Given the description of an element on the screen output the (x, y) to click on. 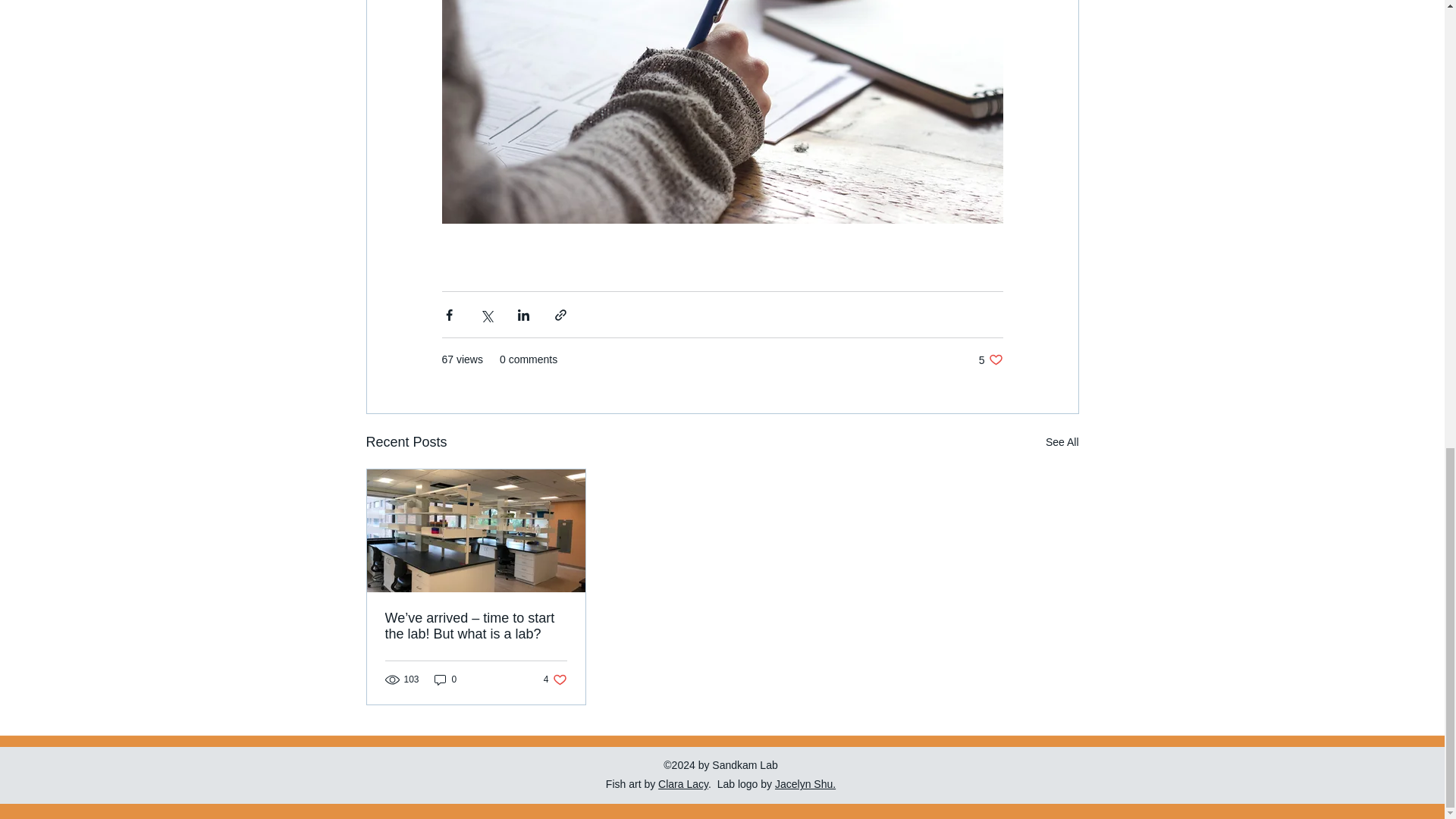
0 (445, 679)
Clara Lacy (682, 784)
Jacelyn Shu. (804, 784)
See All (555, 679)
